Given the description of an element on the screen output the (x, y) to click on. 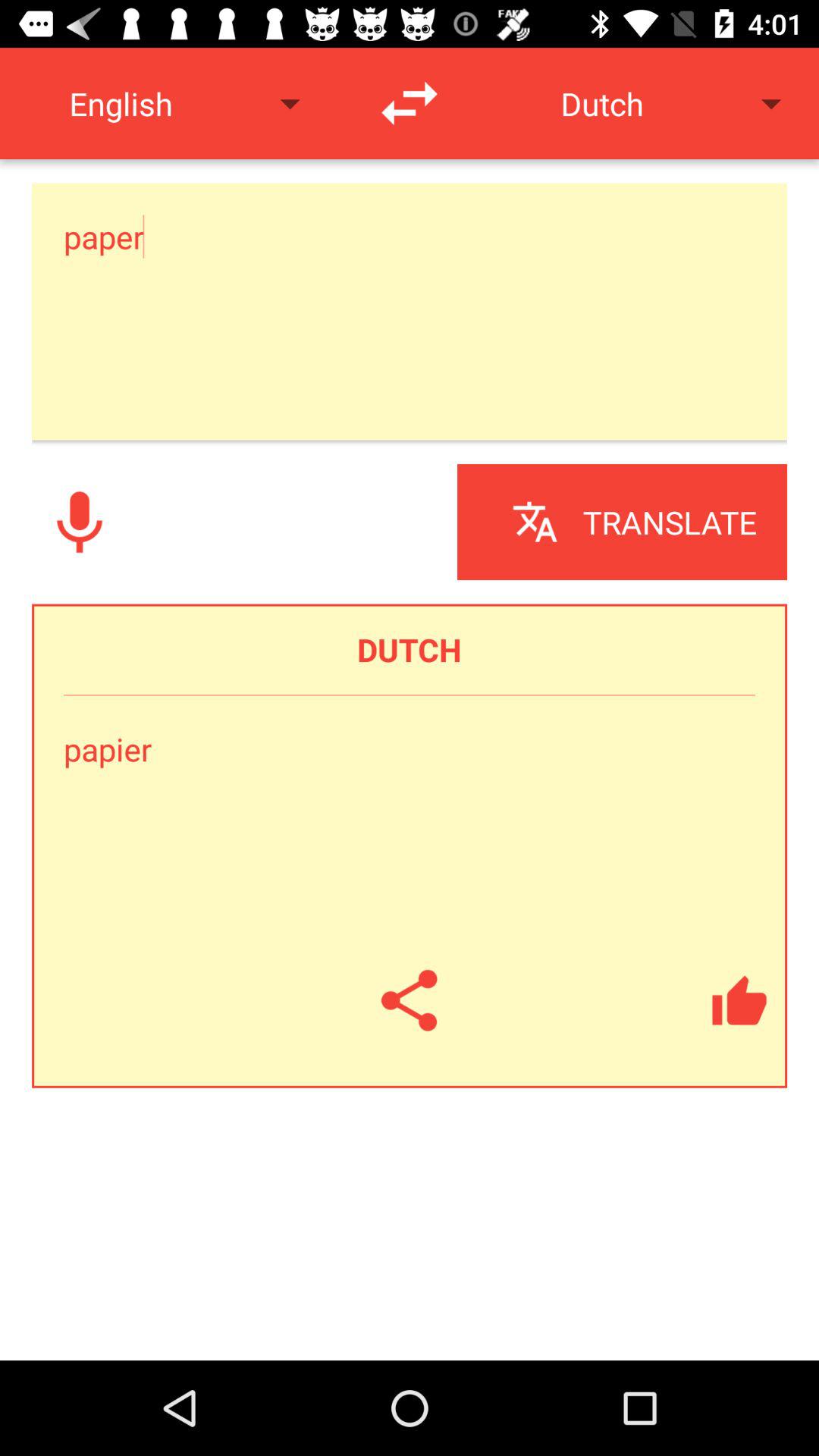
record (79, 521)
